Given the description of an element on the screen output the (x, y) to click on. 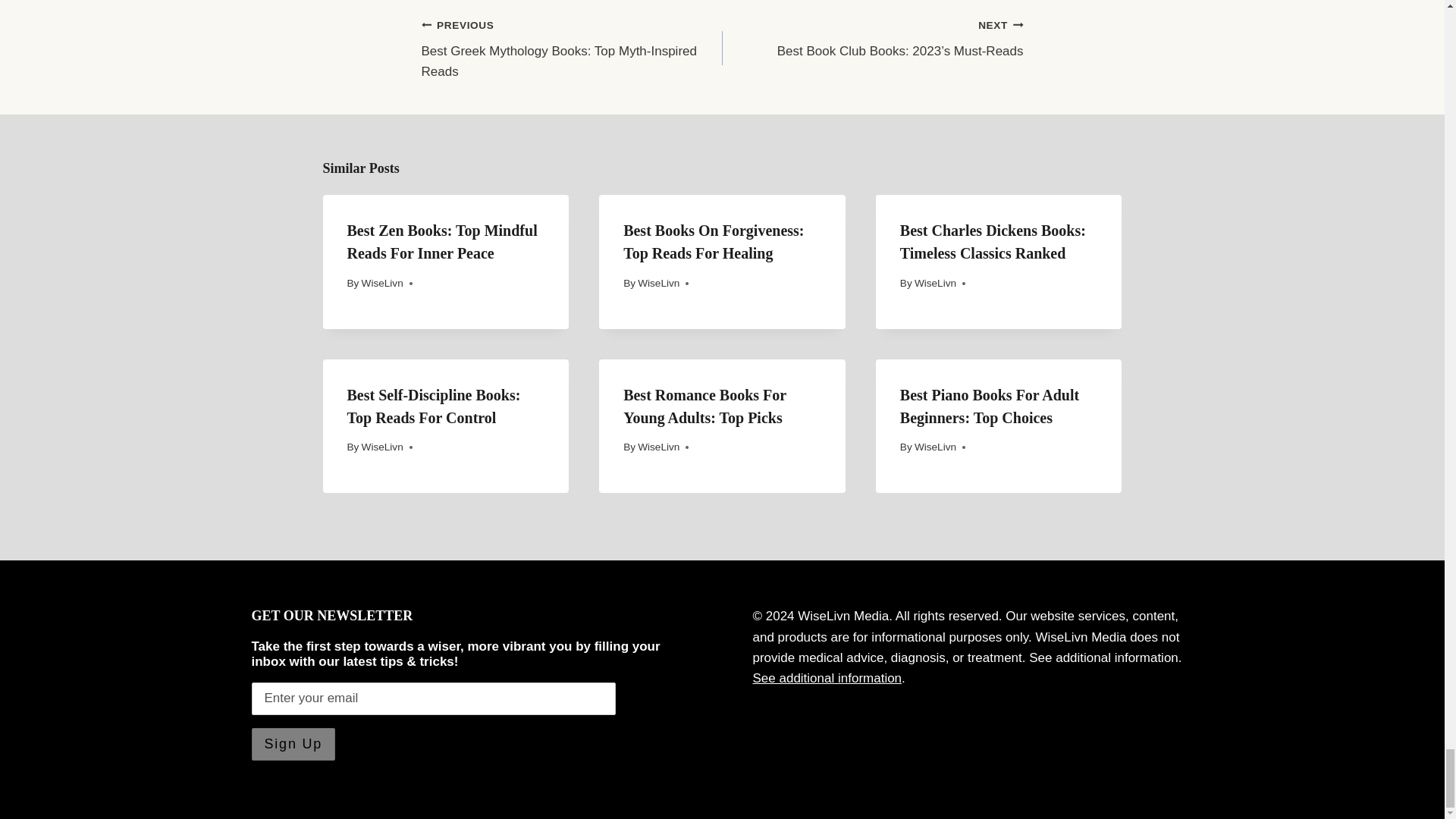
WiseLivn (382, 283)
Best Zen Books: Top Mindful Reads For Inner Peace (442, 241)
Sign Up (572, 48)
